Given the description of an element on the screen output the (x, y) to click on. 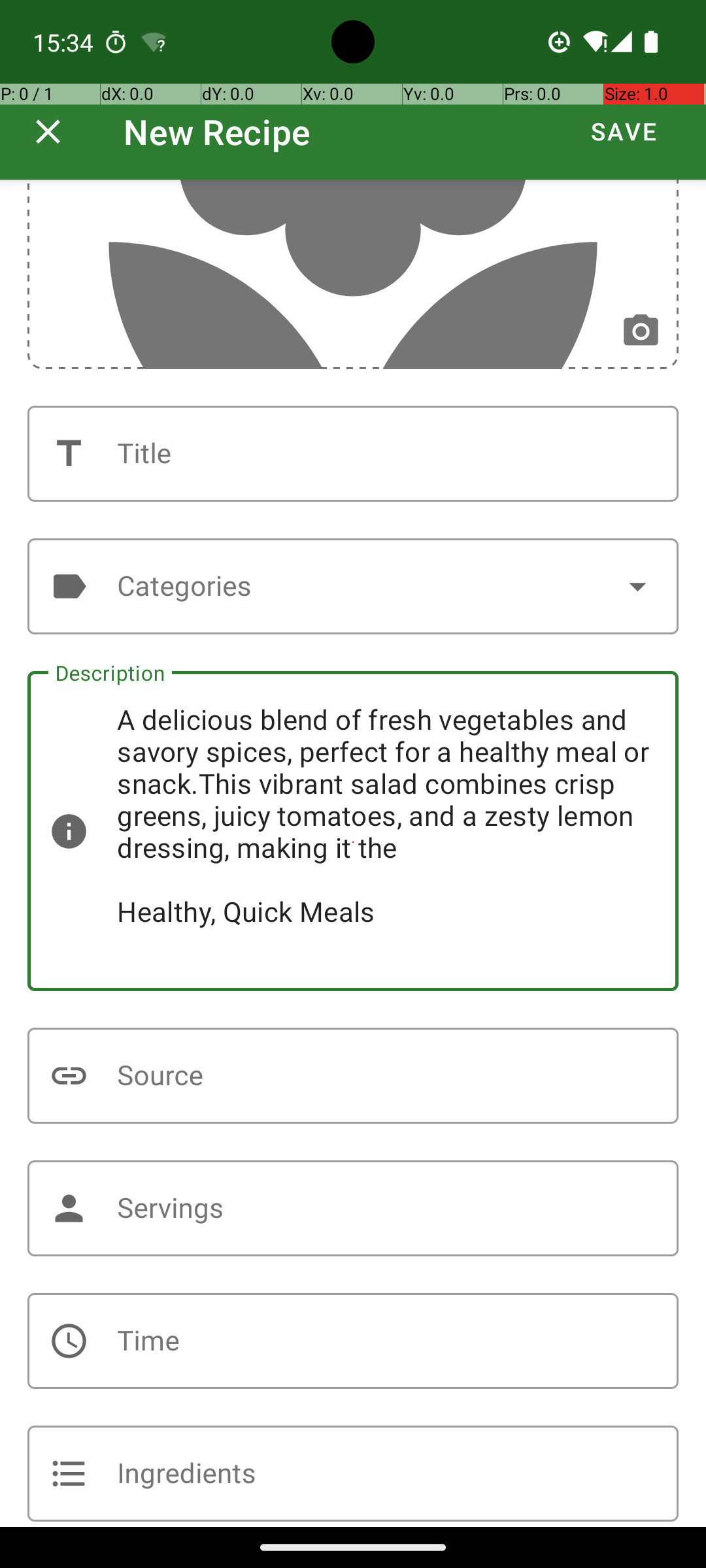
A delicious blend of fresh vegetables and savory spices, perfect for a healthy meal or snack.This vibrant salad combines crisp greens, juicy tomatoes, and a zesty lemon dressing, making it the

Healthy, Quick Meals
 Element type: android.widget.EditText (352, 830)
